Given the description of an element on the screen output the (x, y) to click on. 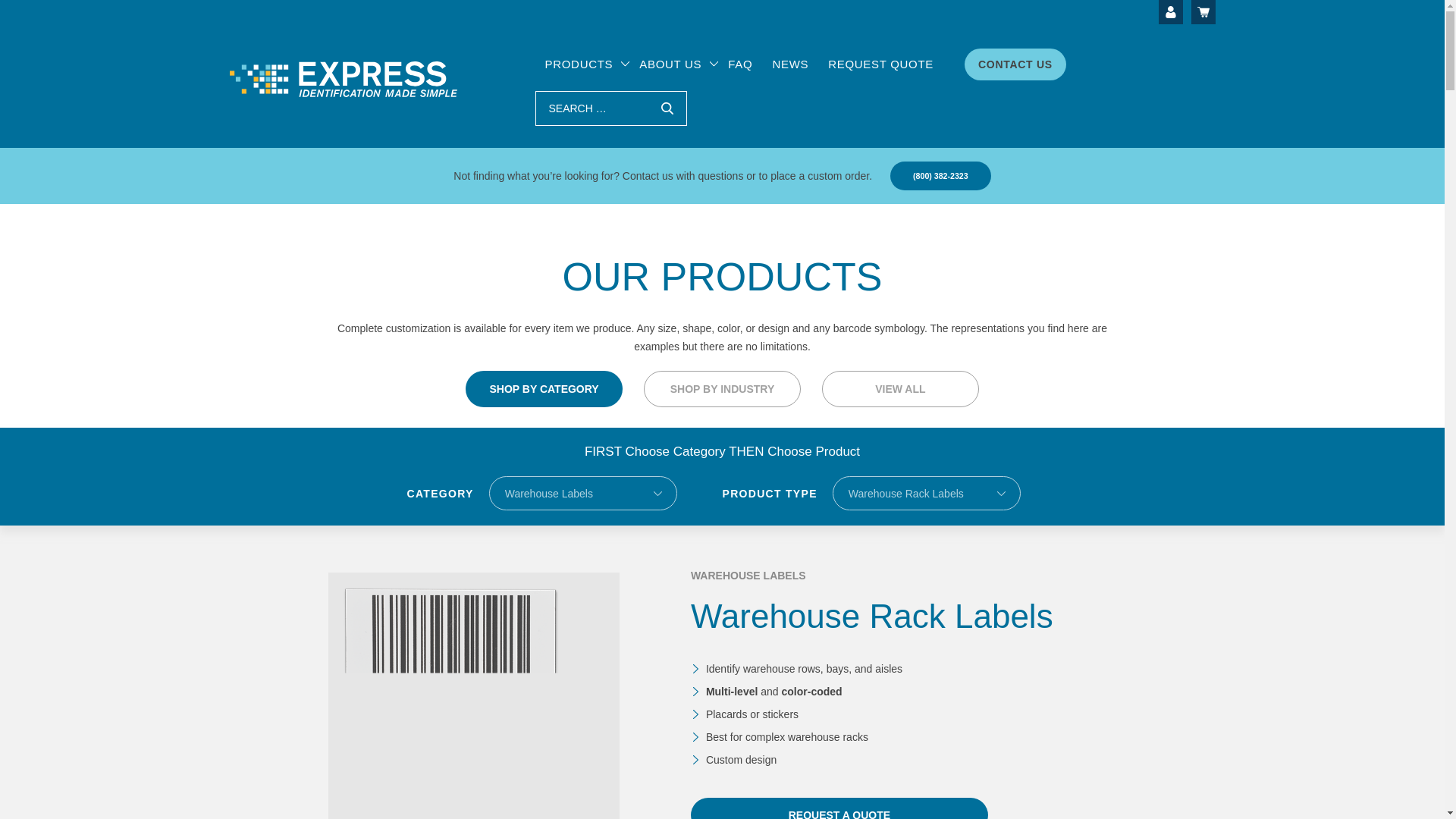
CONTACT US (1014, 64)
Search (666, 108)
Search (666, 108)
WAREHOUSE LABELS (748, 575)
My Account or Sign In (1170, 12)
VIEW ALL (900, 389)
FAQ (740, 64)
ABOUT US (670, 64)
SHOP BY INDUSTRY (721, 389)
NEWS (789, 64)
